Given the description of an element on the screen output the (x, y) to click on. 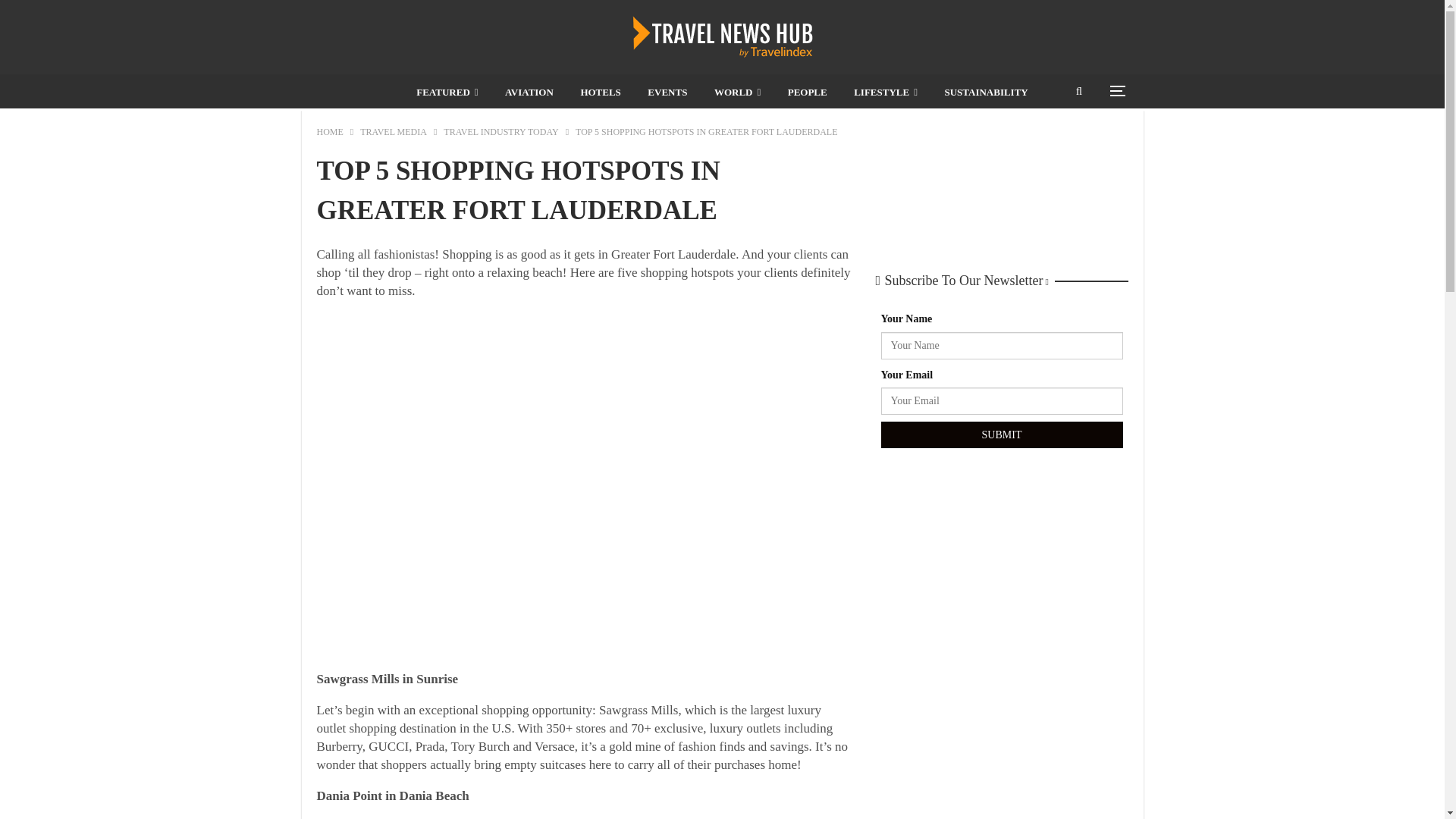
AVIATION (529, 92)
EVENTS (667, 92)
Submit (1001, 434)
WORLD (737, 92)
FEATURED (446, 92)
HOTELS (599, 92)
LIFESTYLE (885, 92)
PEOPLE (806, 92)
